Given the description of an element on the screen output the (x, y) to click on. 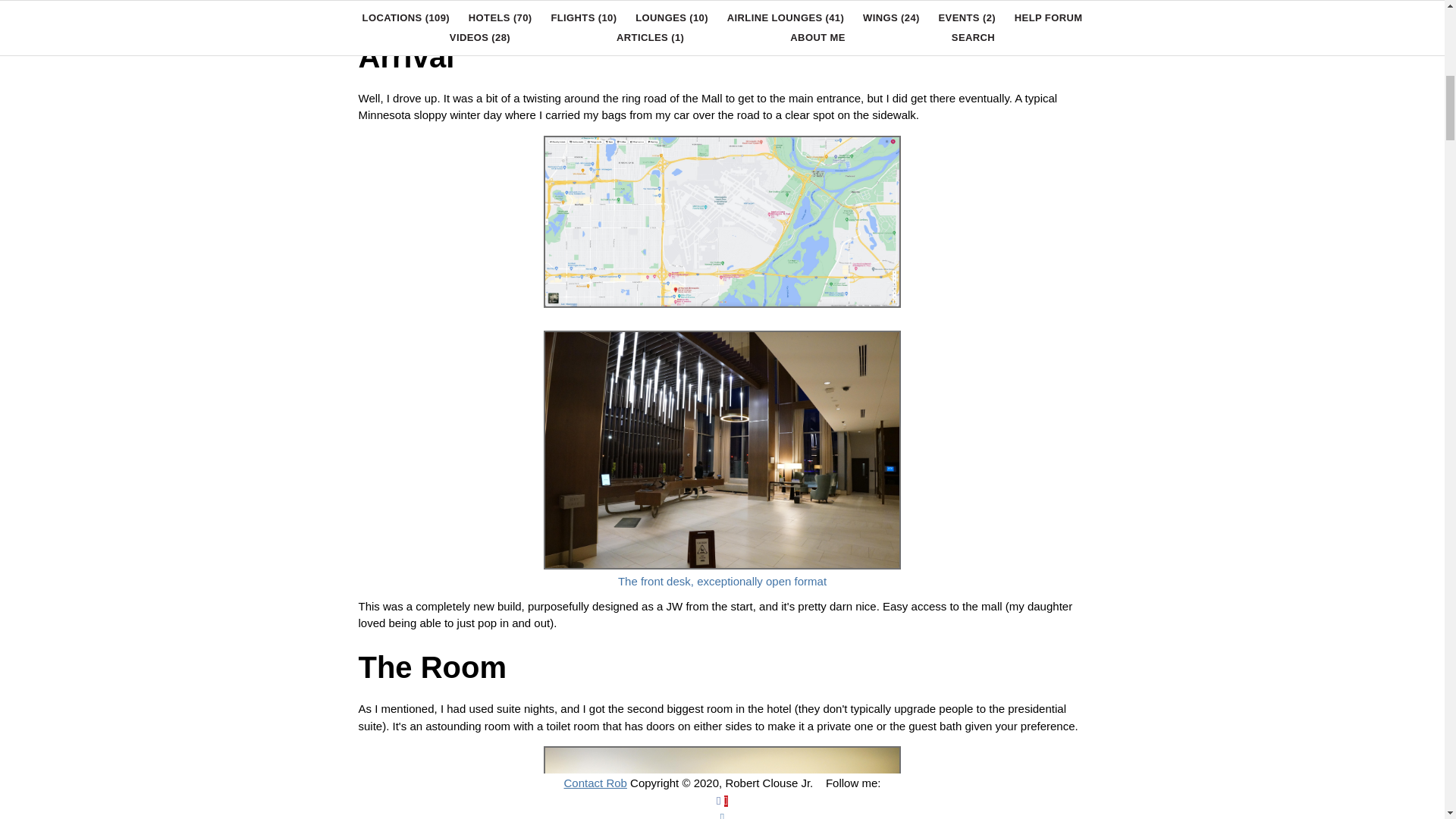
Lovely living room (722, 742)
Summary (382, 29)
Facilities (379, 11)
Dining (374, 0)
The front desk, exceptionally open format (722, 327)
